Given the description of an element on the screen output the (x, y) to click on. 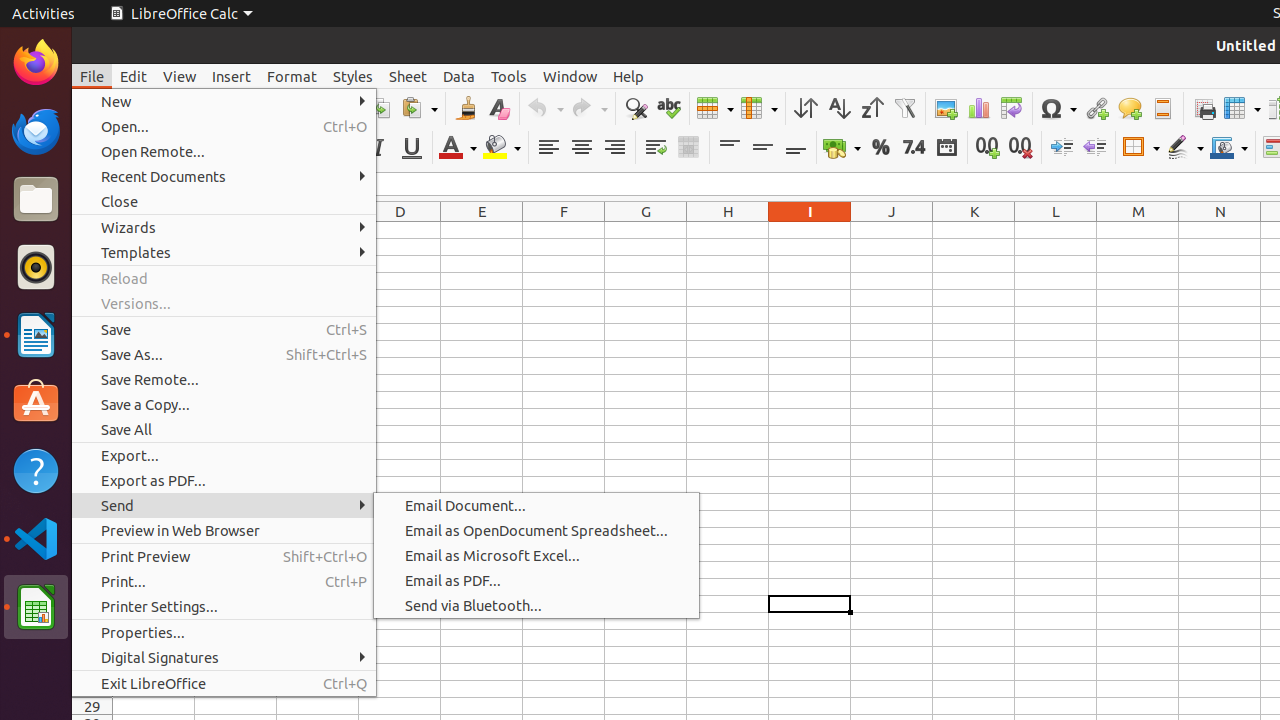
Versions... Element type: menu-item (224, 303)
Find & Replace Element type: toggle-button (635, 108)
Edit Element type: menu (133, 76)
Background Color Element type: push-button (502, 147)
Send Element type: menu (224, 505)
